Given the description of an element on the screen output the (x, y) to click on. 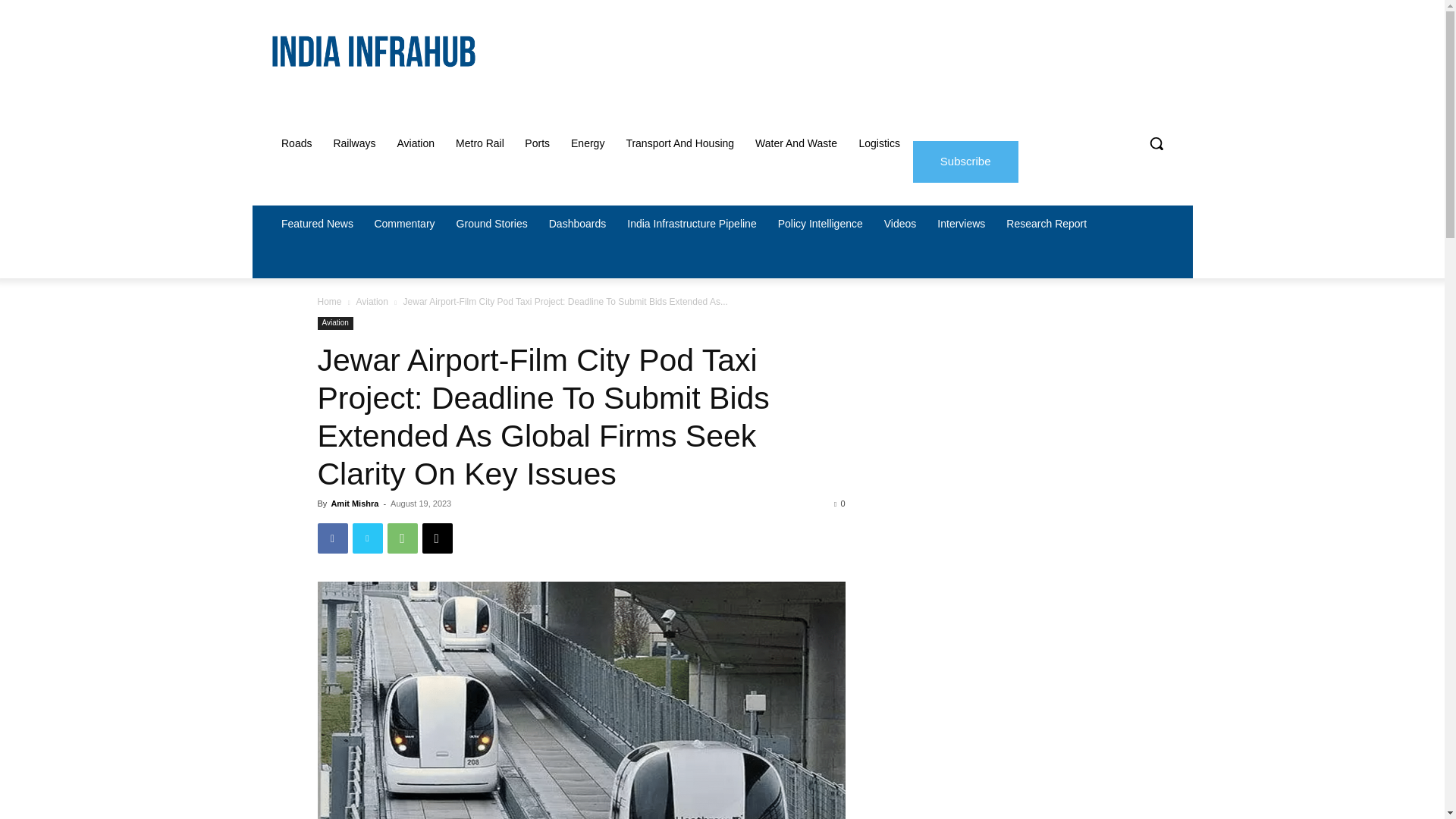
Roads (295, 143)
Transport And Housing (679, 143)
Energy (587, 143)
Twitter (366, 538)
Copy URL (436, 538)
Dashboards (577, 223)
Facebook (332, 538)
India Infrastructure Pipeline (691, 223)
Ports (536, 143)
Logistics (878, 143)
View all posts in Aviation (371, 301)
Aviation (415, 143)
